Given the description of an element on the screen output the (x, y) to click on. 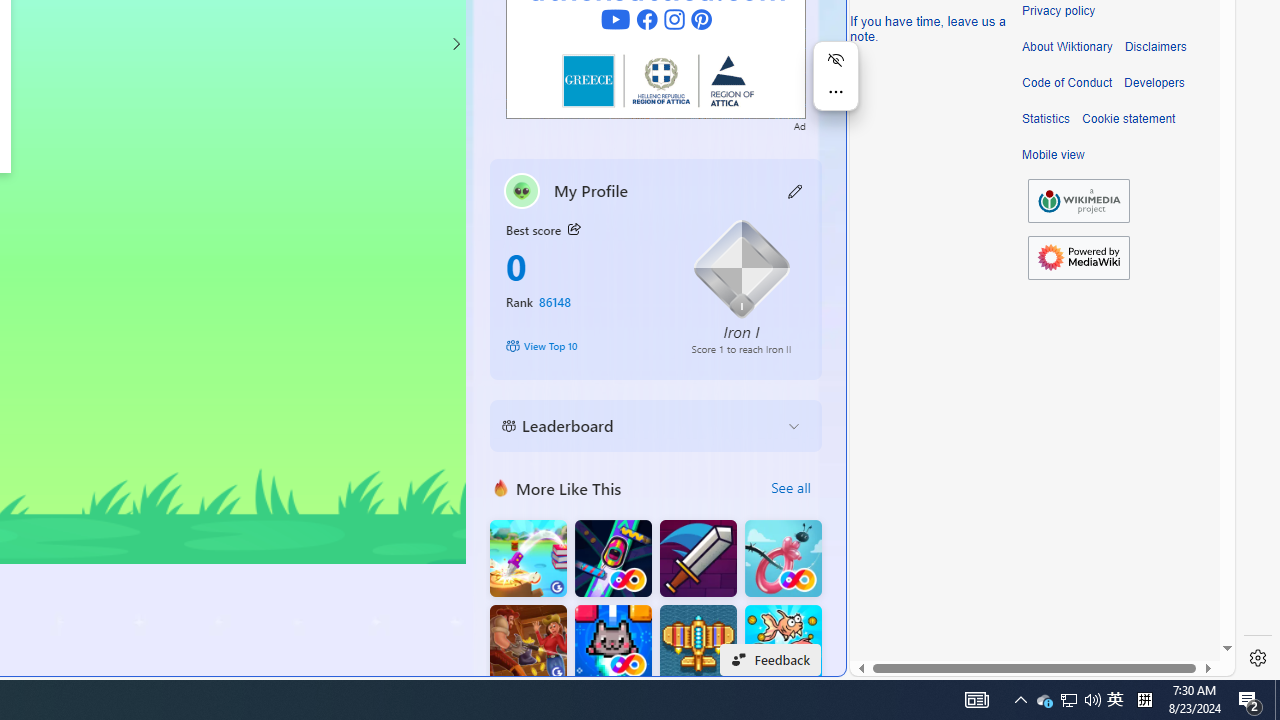
Powered by MediaWiki (1078, 257)
Class: button edit-icon (795, 190)
Balloon FRVR (783, 558)
See all (790, 487)
AutomationID: footer-poweredbyico (1078, 257)
Mobile view (1053, 155)
Knife Flip (528, 558)
MSN (687, 223)
Wikimedia Foundation (1078, 201)
